Given the description of an element on the screen output the (x, y) to click on. 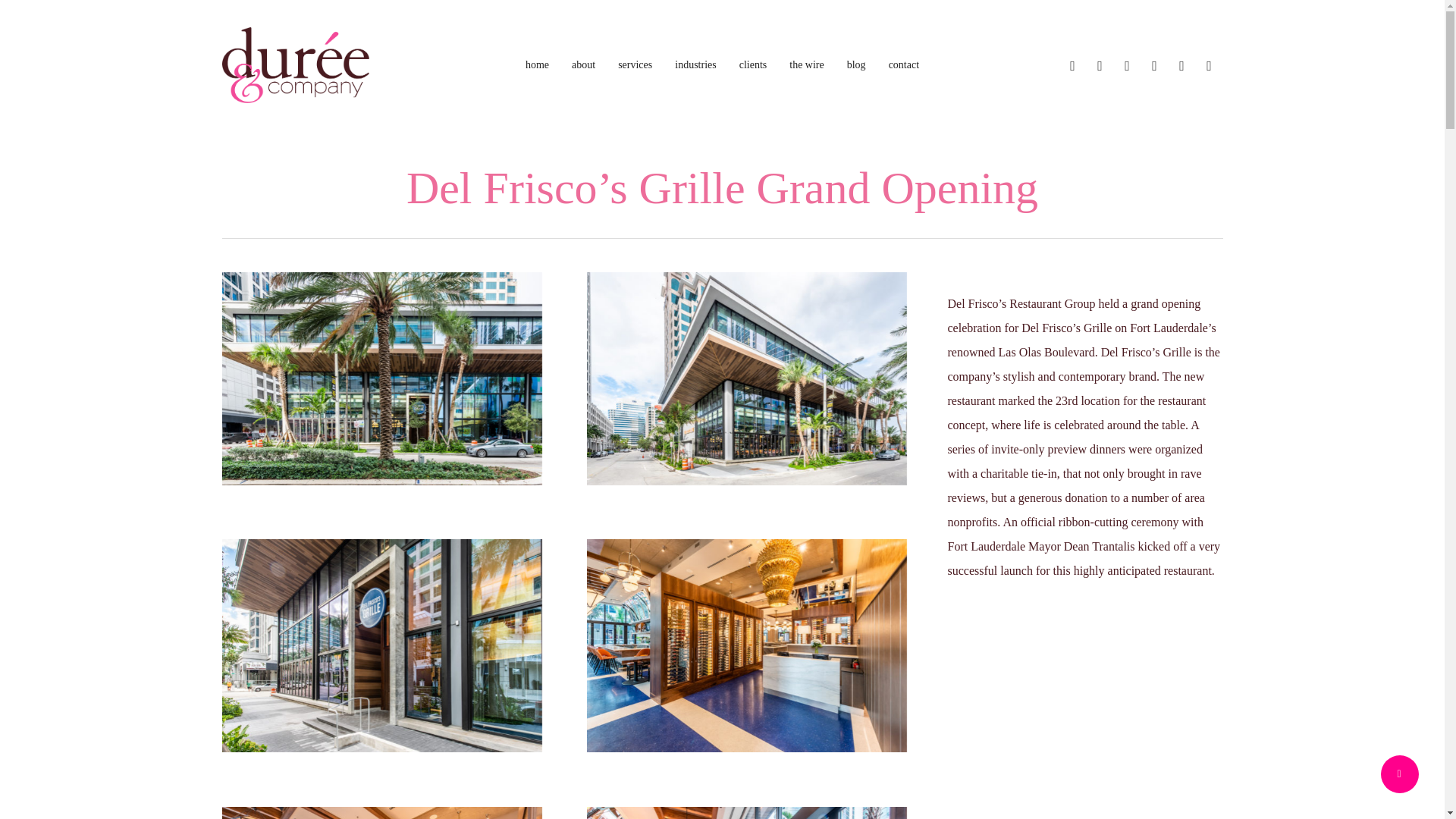
about (583, 64)
services (634, 64)
home (536, 64)
industries (695, 64)
